Given the description of an element on the screen output the (x, y) to click on. 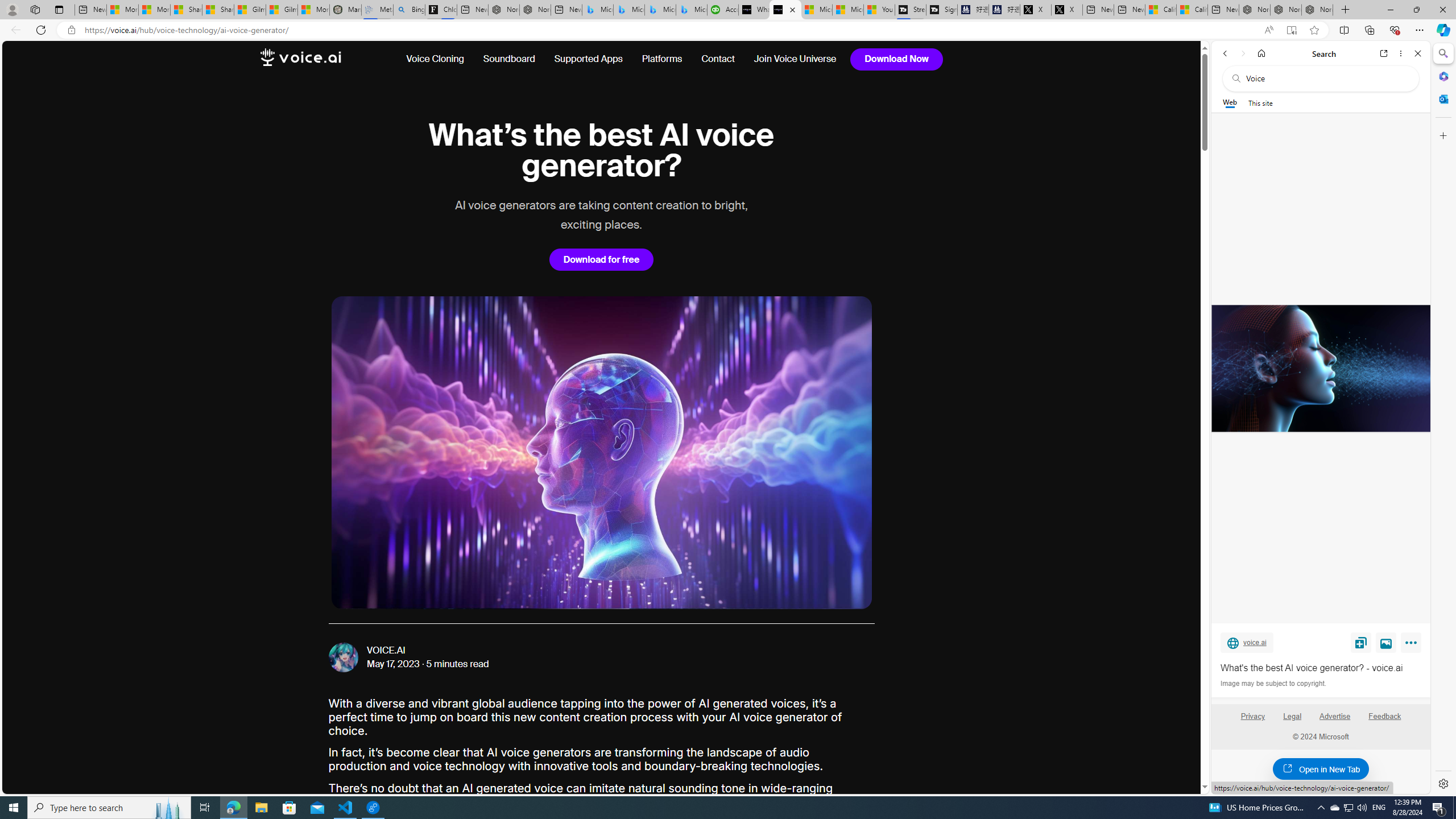
Microsoft Start Sports (816, 9)
Privacy (1252, 720)
Microsoft Bing Travel - Stays in Bangkok, Bangkok, Thailand (628, 9)
VOICE.AI (386, 650)
